Given the description of an element on the screen output the (x, y) to click on. 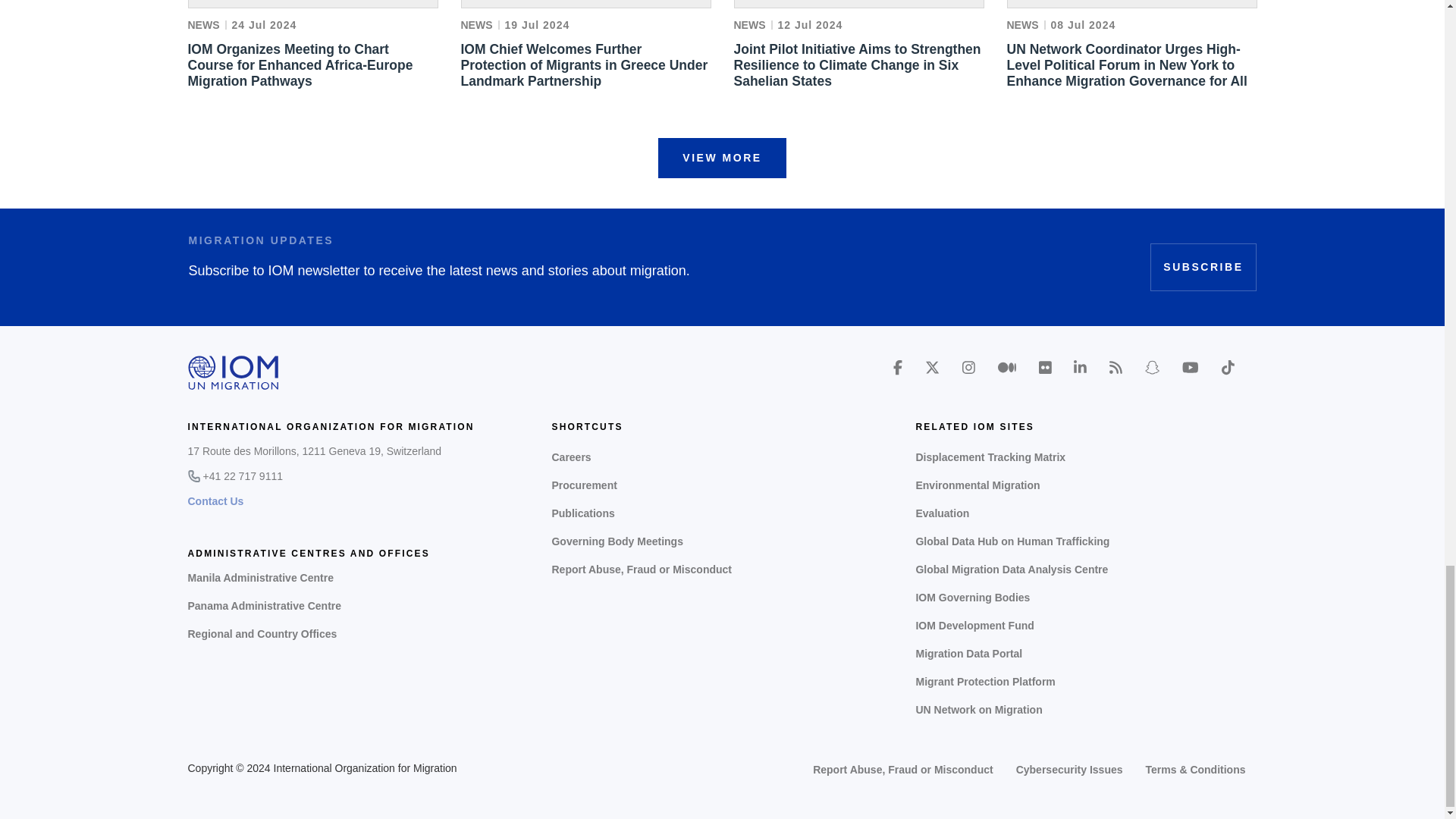
Governing Body Meetings (721, 541)
Home (233, 372)
